Given the description of an element on the screen output the (x, y) to click on. 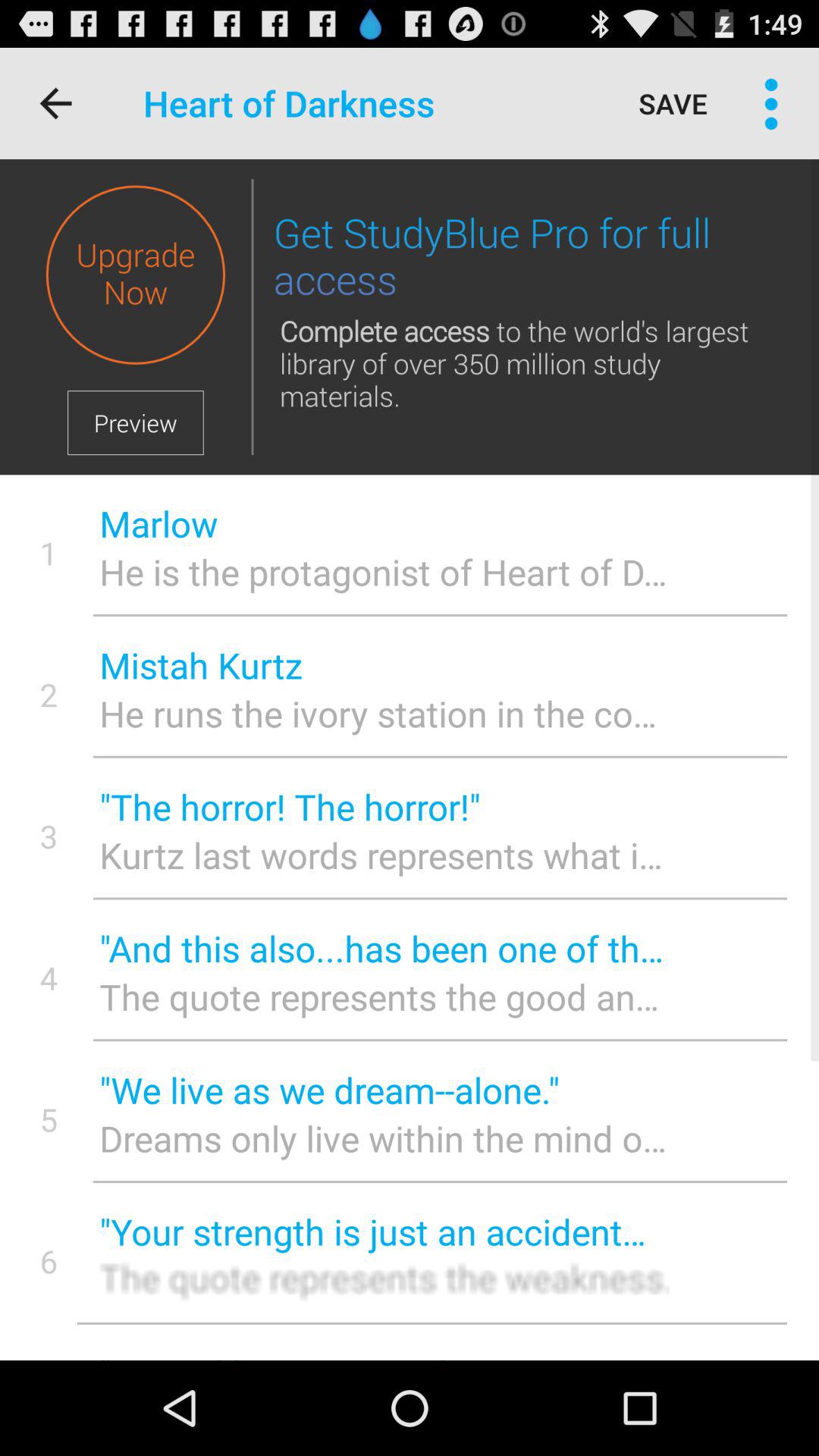
press the item next to save icon (771, 103)
